Given the description of an element on the screen output the (x, y) to click on. 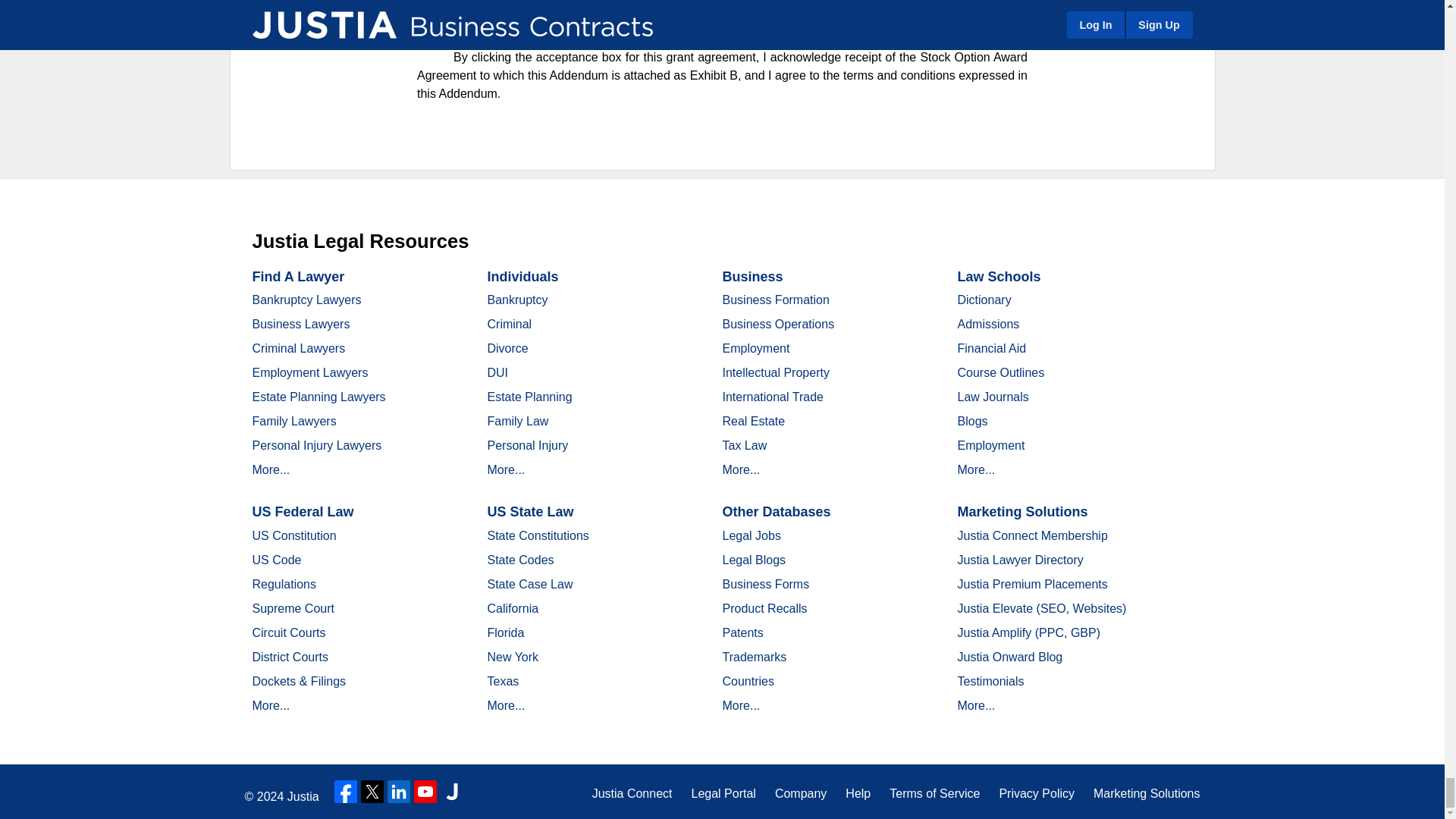
Facebook (345, 791)
Family Lawyers (293, 420)
Twitter (372, 791)
Bankruptcy Lawyers (306, 299)
Criminal Lawyers (298, 348)
Personal Injury Lawyers (316, 445)
Find A Lawyer (297, 276)
Estate Planning Lawyers (318, 396)
Justia Lawyer Directory (452, 791)
Business Lawyers (300, 323)
